Given the description of an element on the screen output the (x, y) to click on. 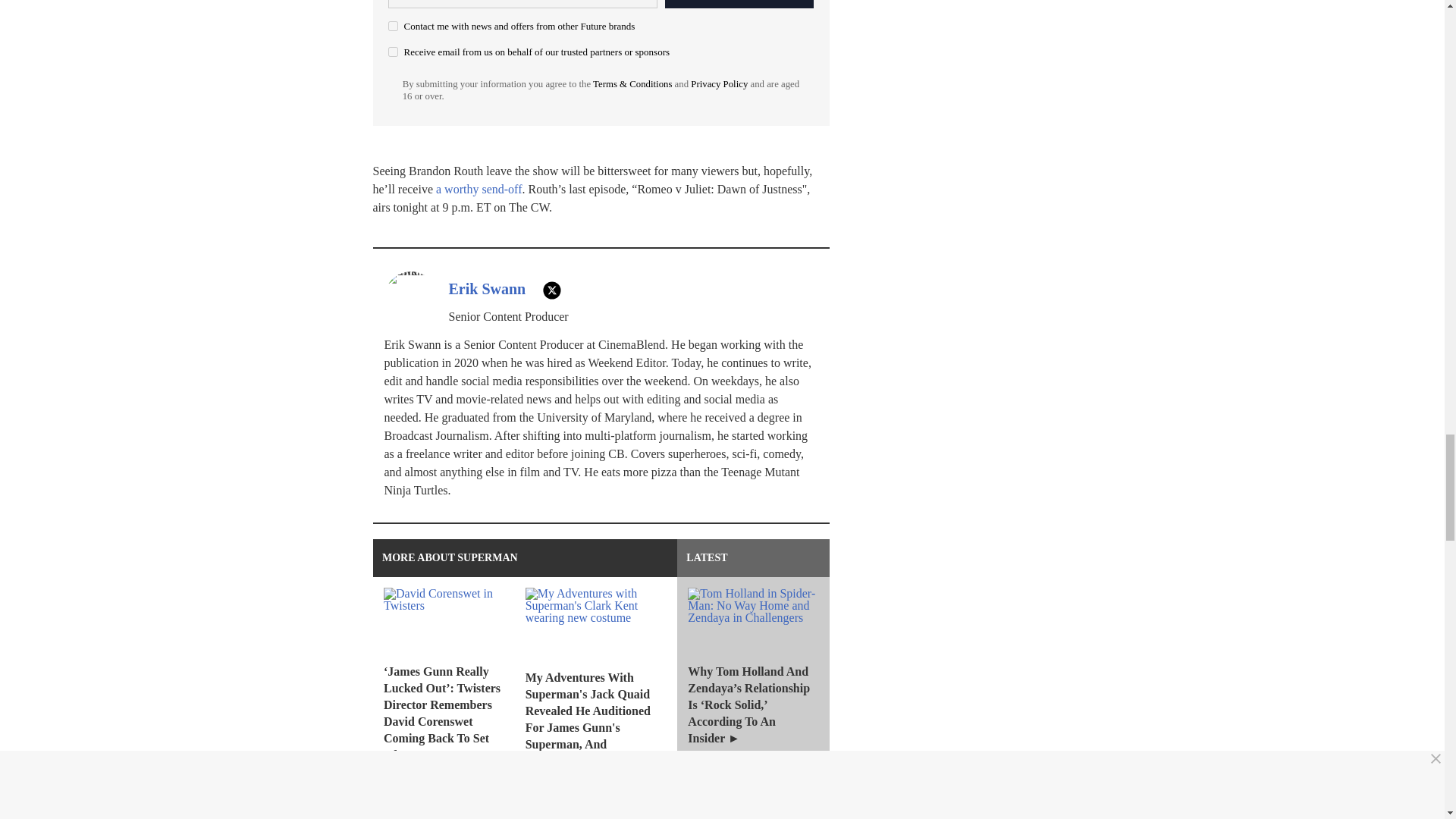
on (392, 51)
Sign me up (739, 4)
on (392, 26)
